Given the description of an element on the screen output the (x, y) to click on. 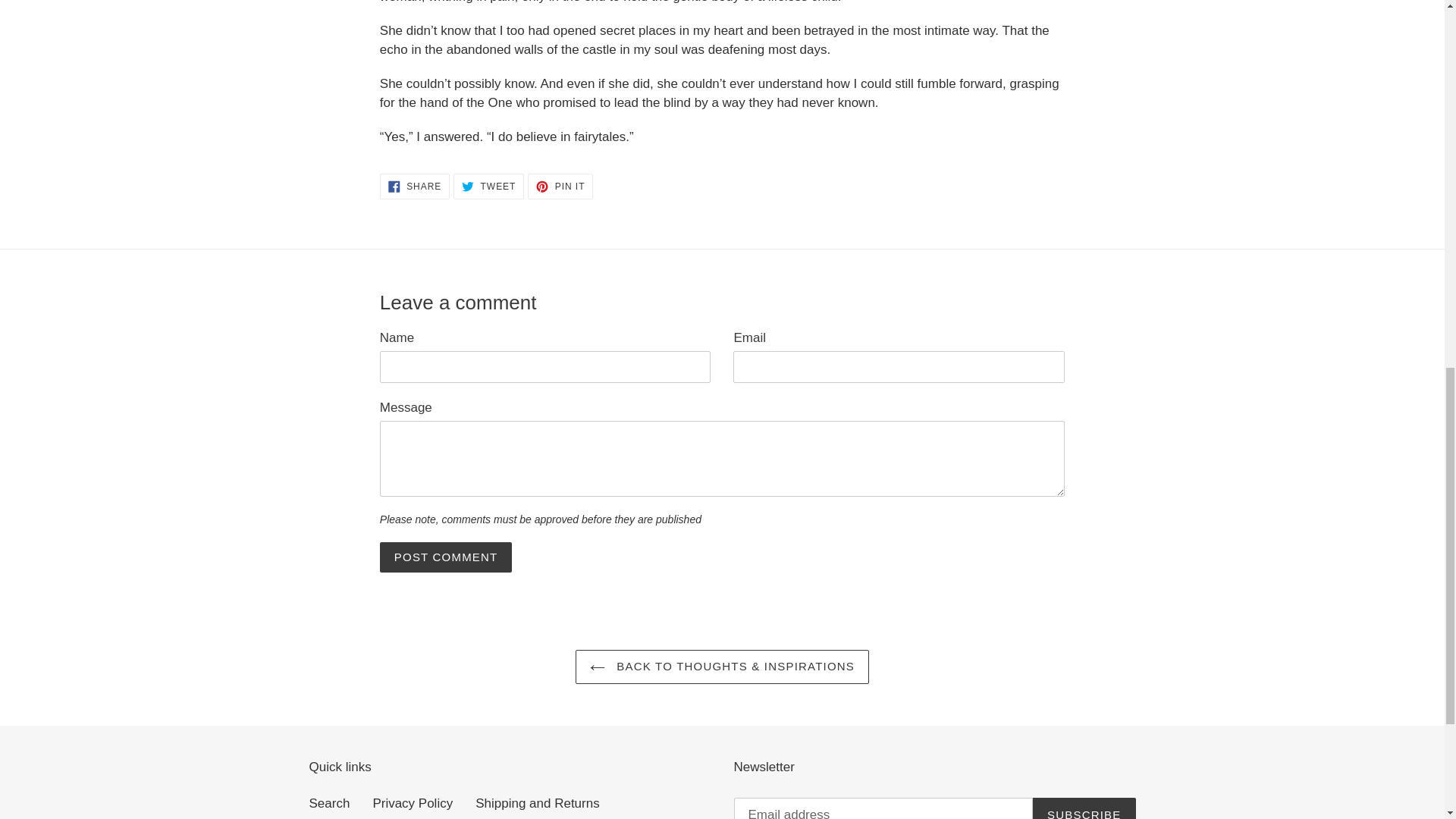
Post comment (446, 557)
Shipping and Returns (559, 186)
Post comment (537, 803)
Privacy Policy (488, 186)
SUBSCRIBE (446, 557)
Search (412, 803)
